Given the description of an element on the screen output the (x, y) to click on. 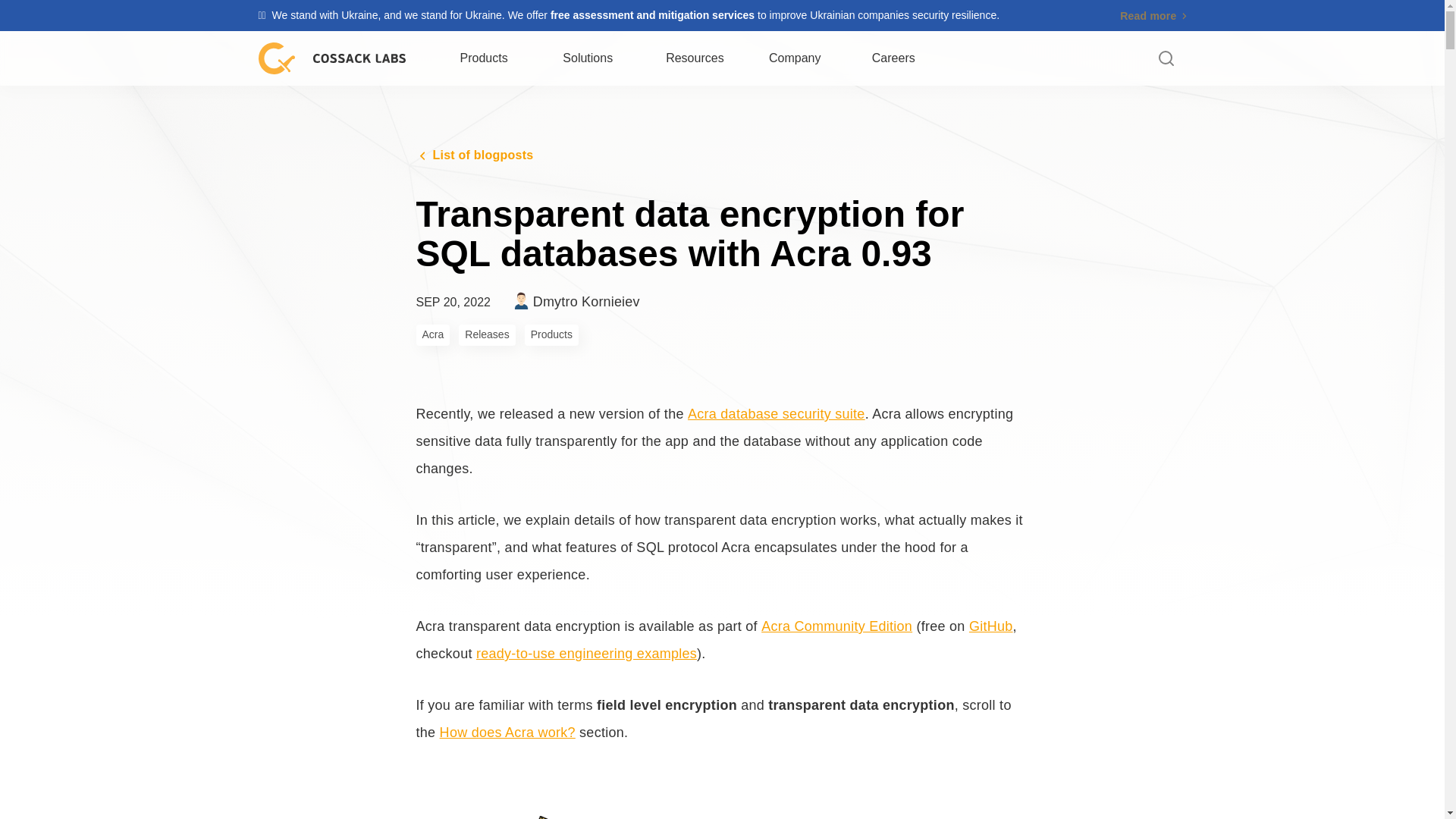
Company (1152, 15)
Products (796, 58)
Resources (485, 58)
Solutions (696, 58)
